Given the description of an element on the screen output the (x, y) to click on. 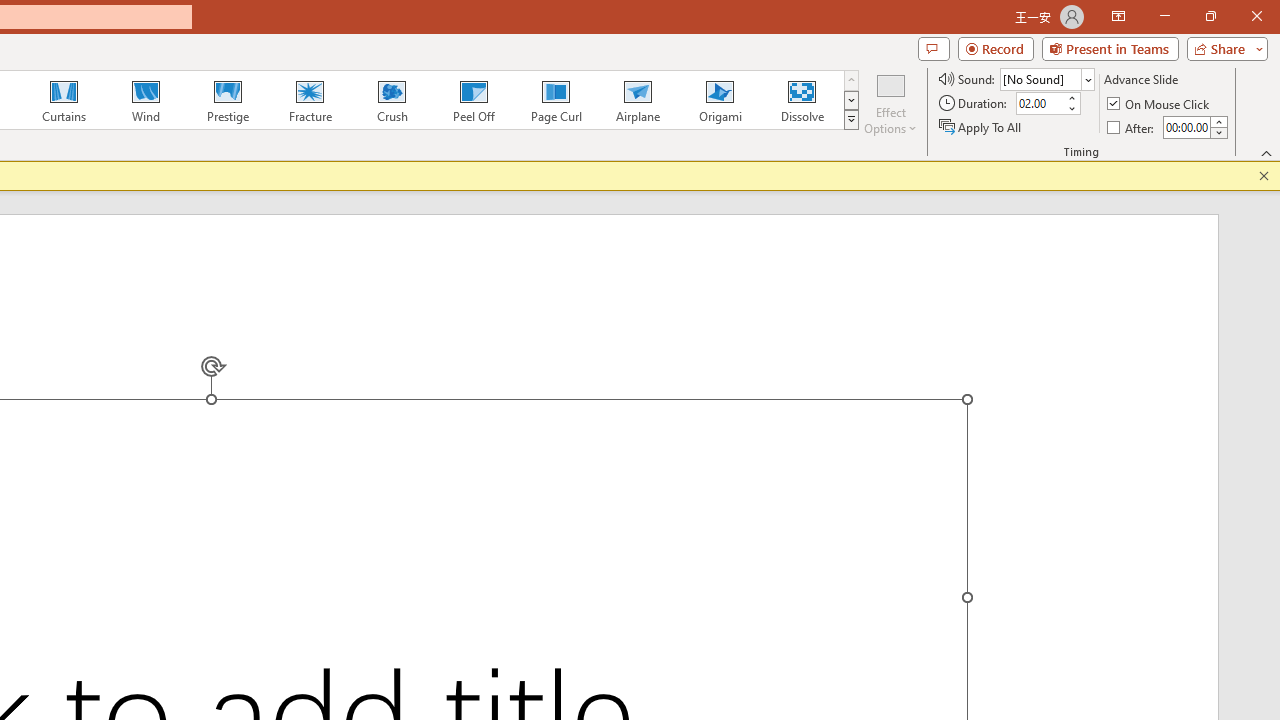
Airplane (637, 100)
Apply To All (981, 126)
More (1218, 121)
Close this message (1263, 176)
After (1186, 127)
Transition Effects (850, 120)
Curtains (63, 100)
Crush (391, 100)
Less (1218, 132)
Wind (145, 100)
